Given the description of an element on the screen output the (x, y) to click on. 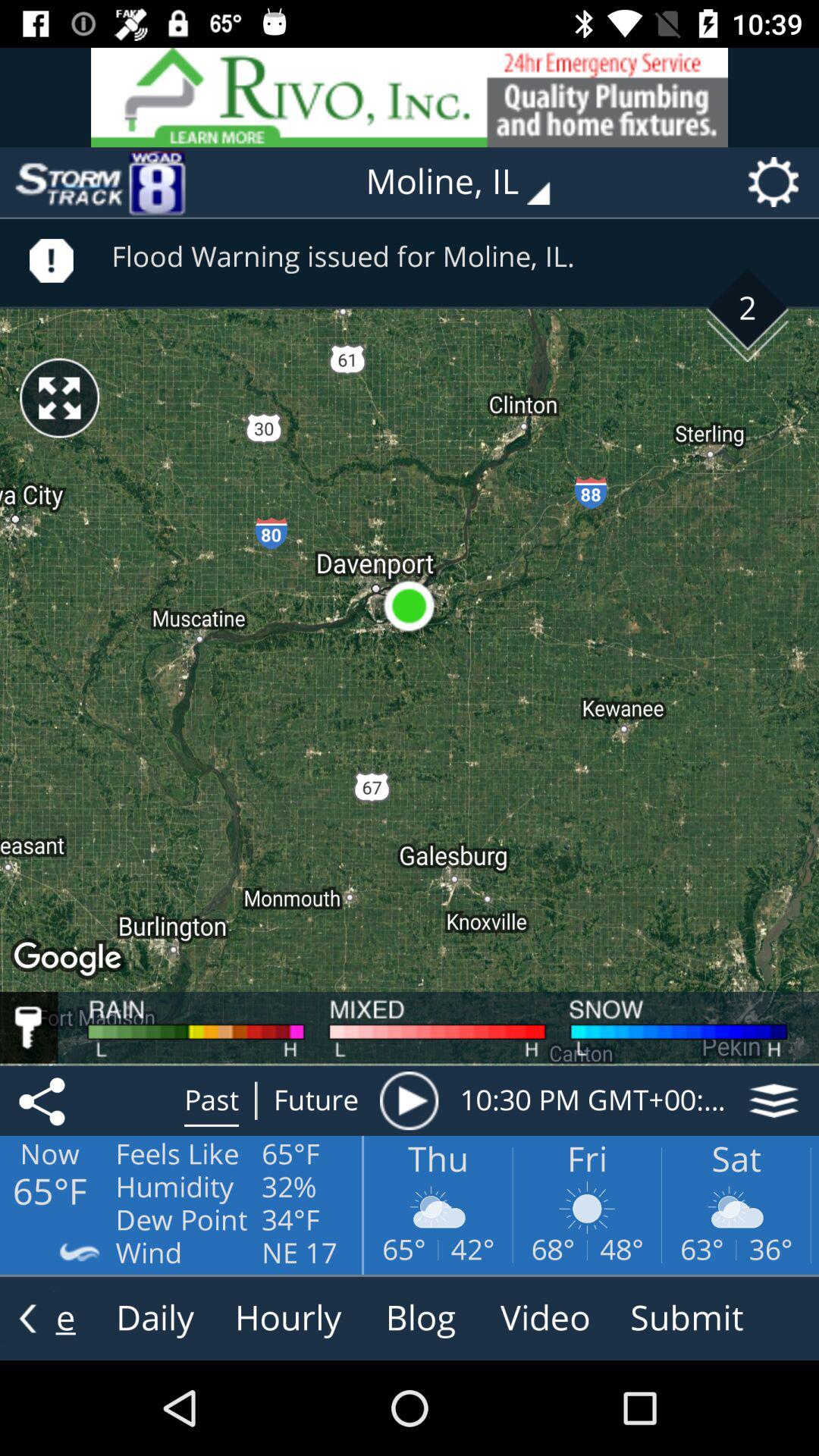
click the text left to settings symbol (468, 181)
select the settings icon which is beside molineil (778, 181)
click on the text past (211, 1100)
